Given the description of an element on the screen output the (x, y) to click on. 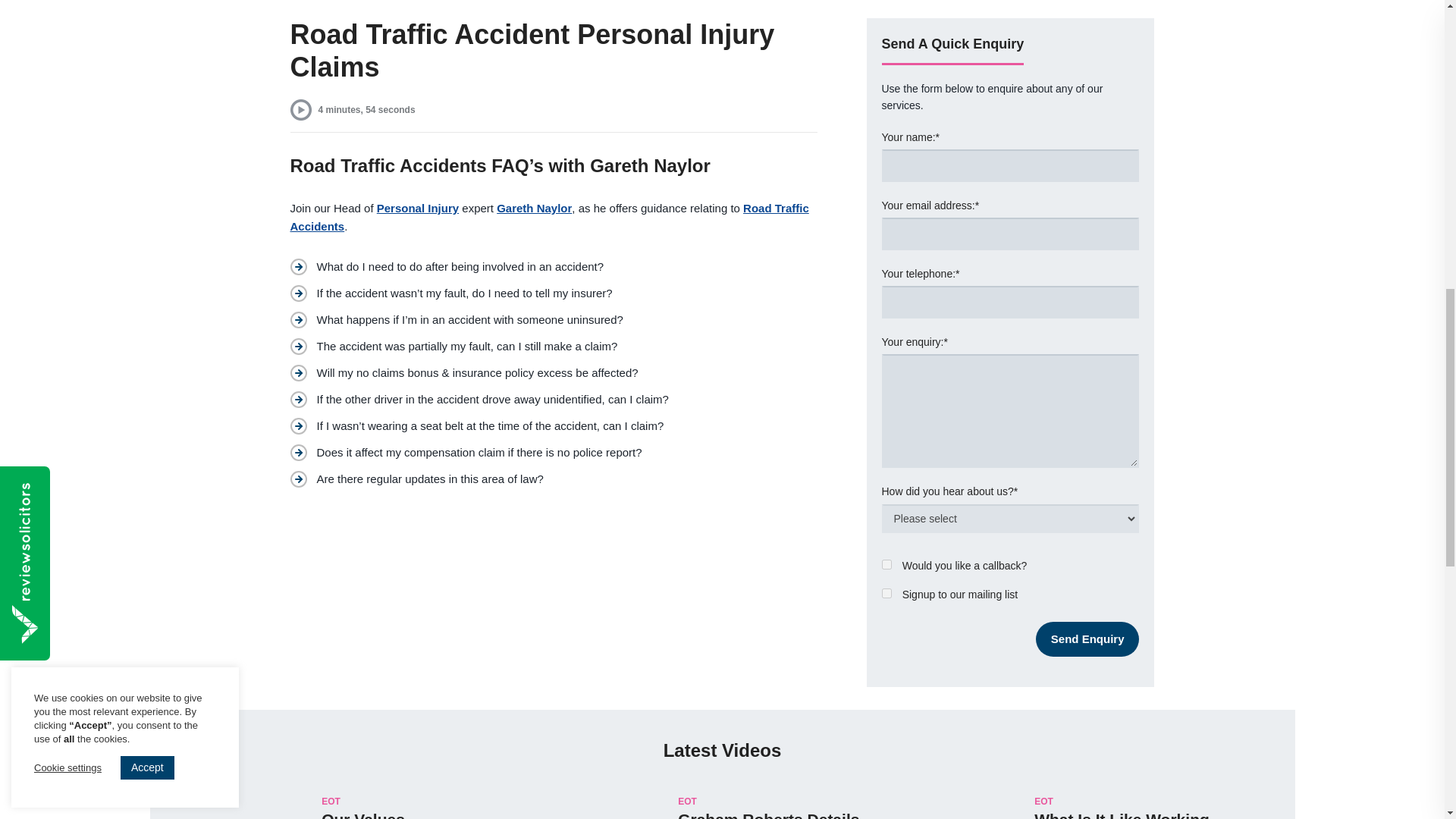
Yes (885, 564)
1 (885, 593)
